Given the description of an element on the screen output the (x, y) to click on. 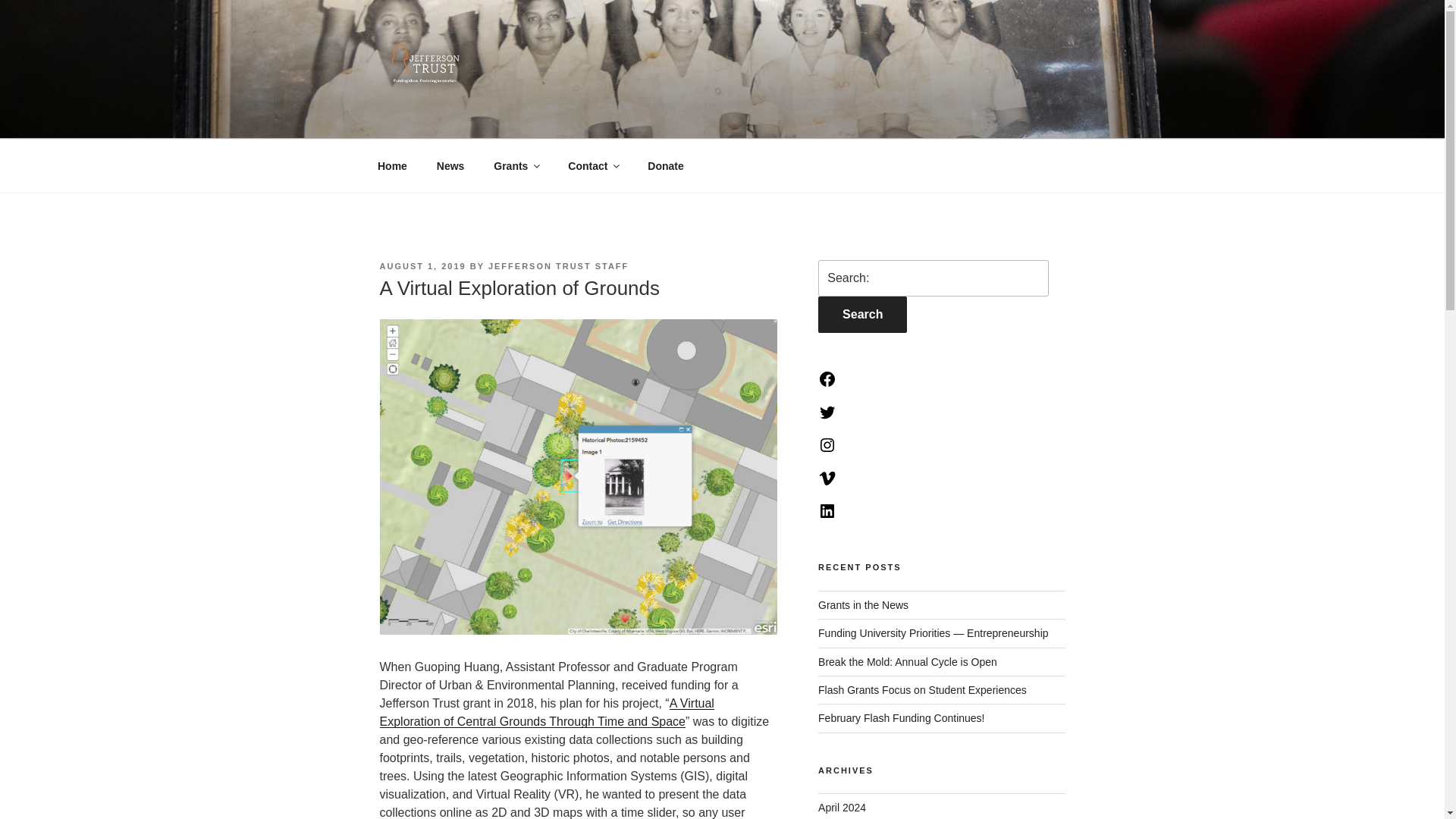
Facebook (826, 384)
JEFFERSON TRUST STAFF (557, 266)
News (450, 165)
Contact (592, 165)
Twitter (826, 417)
Search (862, 314)
AUGUST 1, 2019 (421, 266)
Home (392, 165)
Grants in the News (863, 604)
Vimeo (826, 483)
LinkedIn (826, 516)
Instagram (826, 450)
THE JEFFERSON TRUST (561, 119)
